Given the description of an element on the screen output the (x, y) to click on. 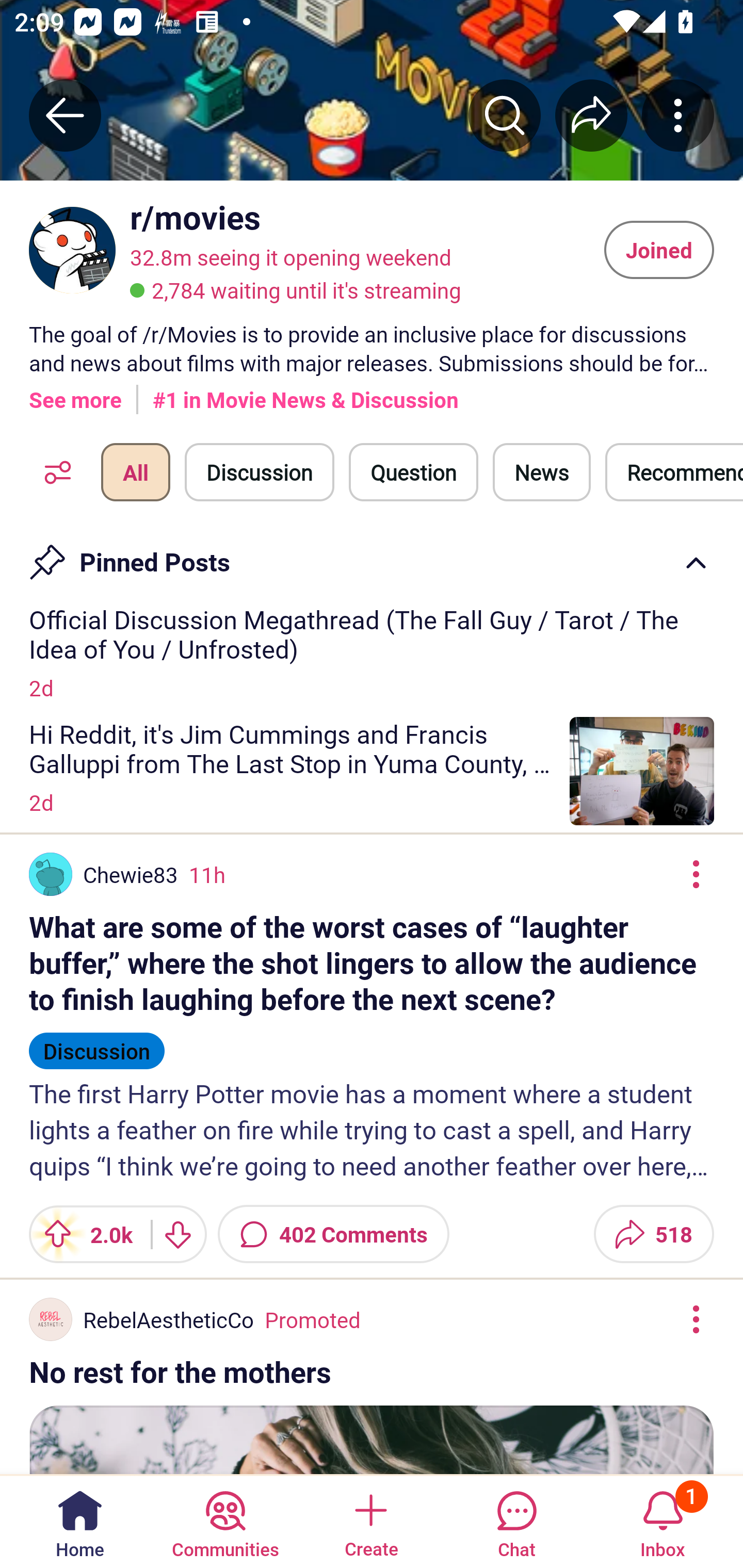
Back (64, 115)
Search r/﻿movies (504, 115)
Share r/﻿movies (591, 115)
More community actions (677, 115)
See more (74, 391)
#1 in Movie News & Discussion (305, 391)
Feed Options (53, 472)
All (135, 472)
Discussion (259, 472)
Question (413, 472)
News (541, 472)
Recommendation (674, 472)
Pin Pinned Posts Caret (371, 555)
Discussion (96, 1042)
Home (80, 1520)
Communities (225, 1520)
Create a post Create (370, 1520)
Chat (516, 1520)
Inbox, has 1 notification 1 Inbox (662, 1520)
